Given the description of an element on the screen output the (x, y) to click on. 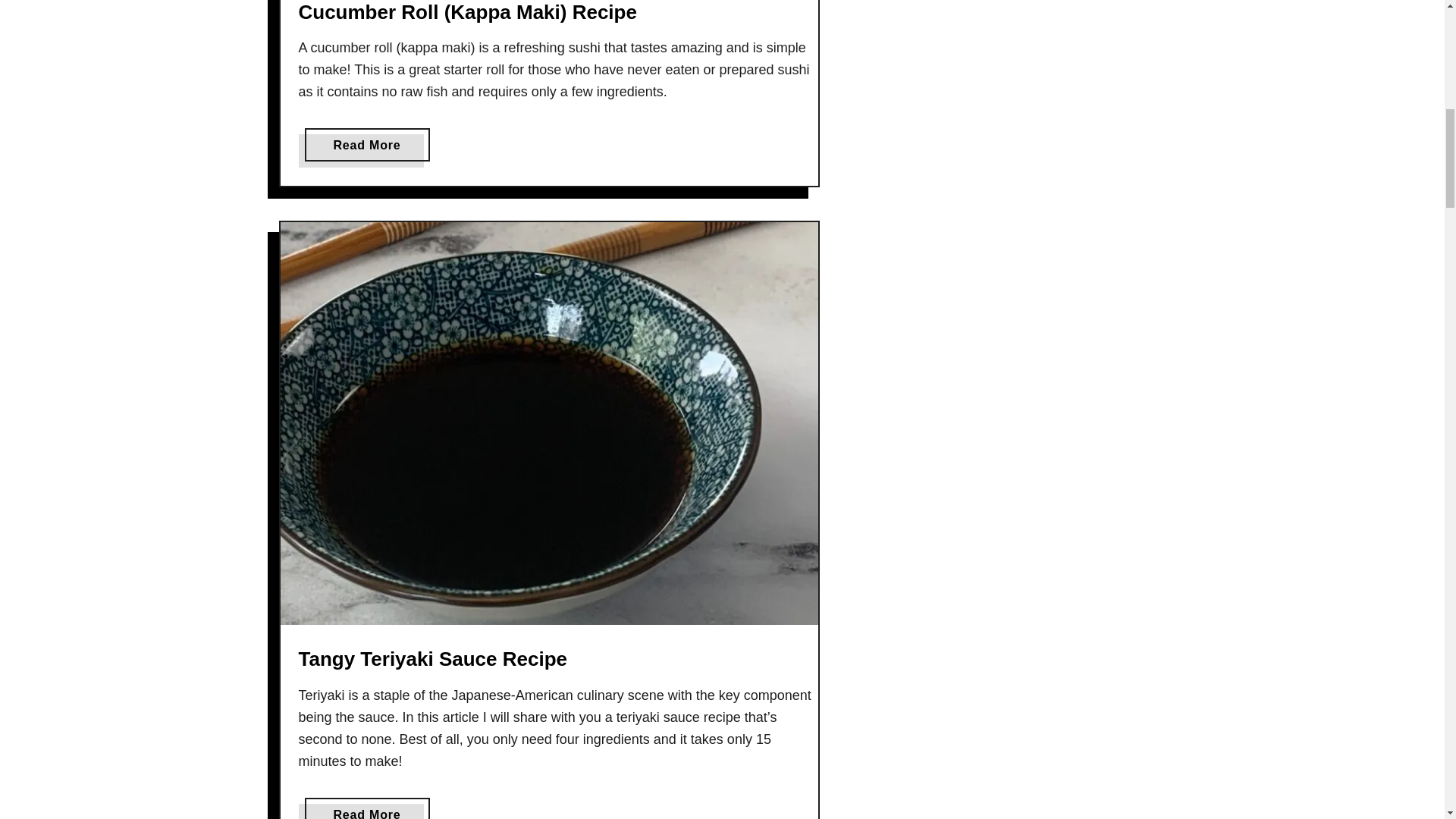
Tangy Teriyaki Sauce Recipe (432, 658)
